Given the description of an element on the screen output the (x, y) to click on. 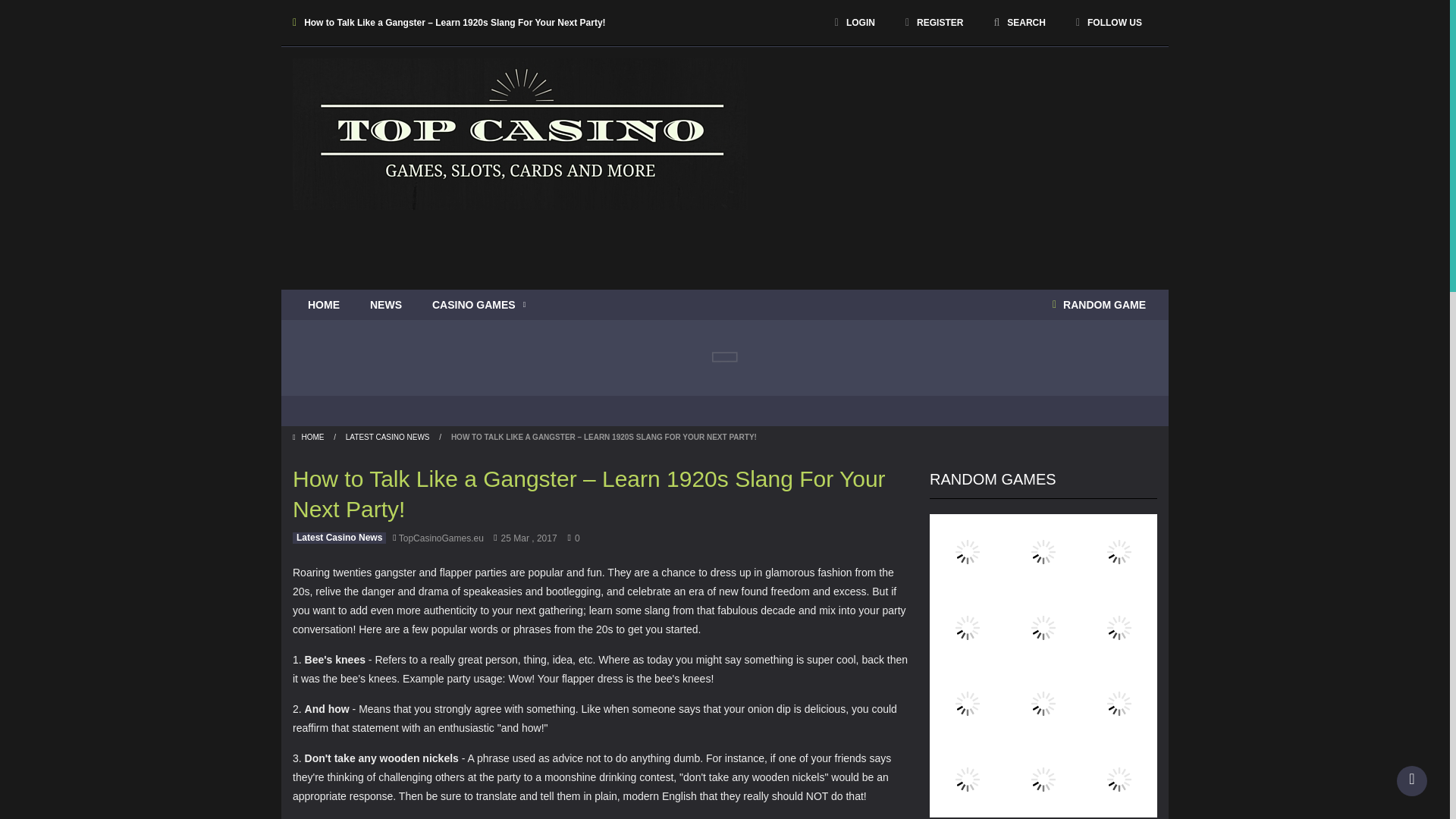
FOLLOW US (1108, 22)
SEARCH (1019, 22)
Advertisement (881, 243)
NEWS (385, 304)
HOME (323, 304)
LOGIN (855, 22)
Top Casino Games (520, 133)
RANDOM GAME (1099, 304)
REGISTER (933, 22)
Top Casino Games (520, 133)
Play a random game! (1099, 304)
CASINO GAMES (478, 304)
